Given the description of an element on the screen output the (x, y) to click on. 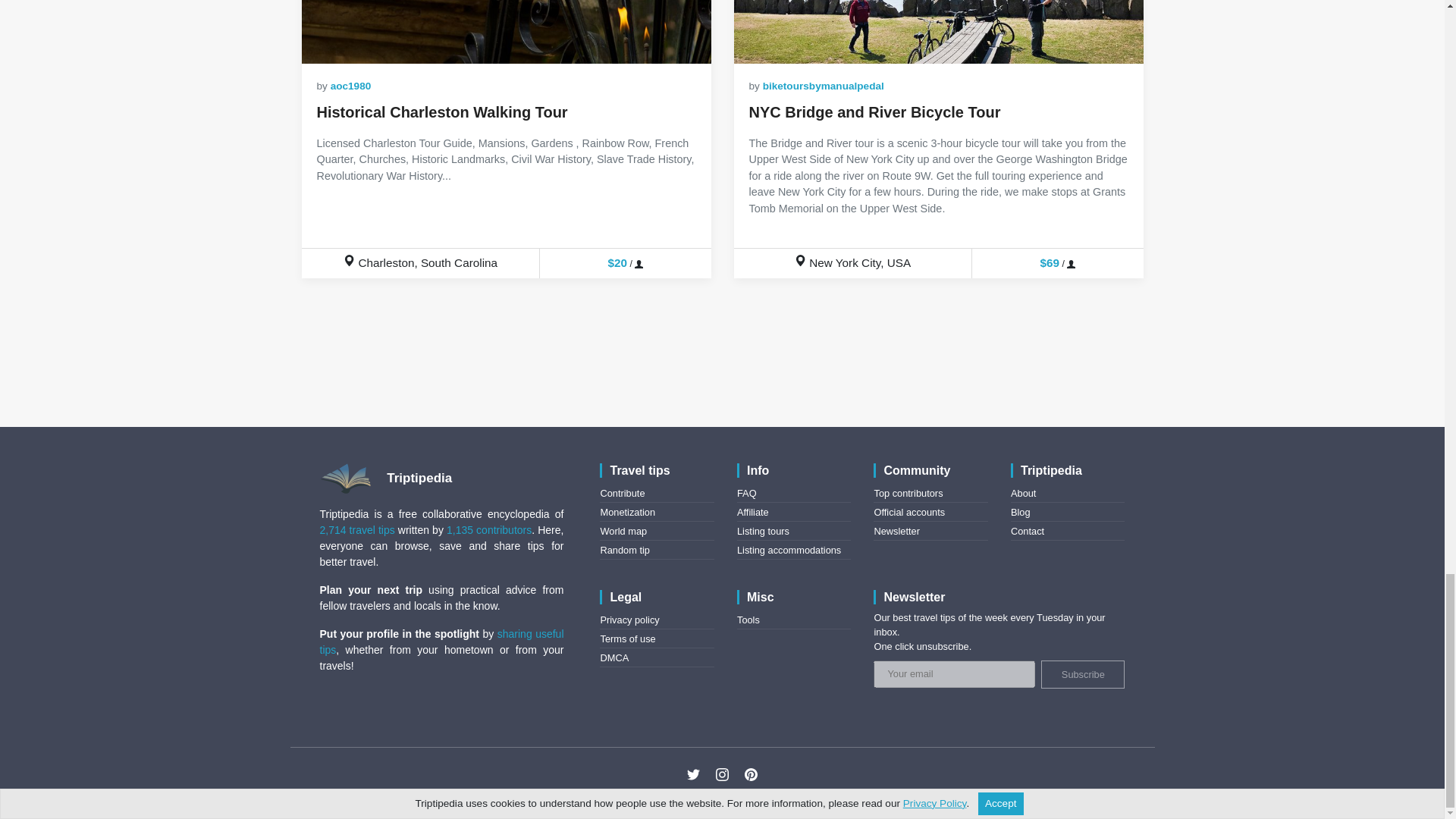
Historical Charleston Walking Tour (506, 31)
Historical Charleston Walking Tour (442, 112)
NYC Bridge and River Bicycle Tour (875, 112)
aoc1980 (350, 85)
2,714 travel tips (357, 530)
Triptipedia (392, 477)
NYC Bridge and River Bicycle Tour  (875, 112)
NYC Bridge and River Bicycle Tour  (937, 31)
sharing useful tips (442, 642)
1,135 contributors (488, 530)
Historical Charleston Walking Tour (442, 112)
biketoursbymanualpedal (822, 85)
